Given the description of an element on the screen output the (x, y) to click on. 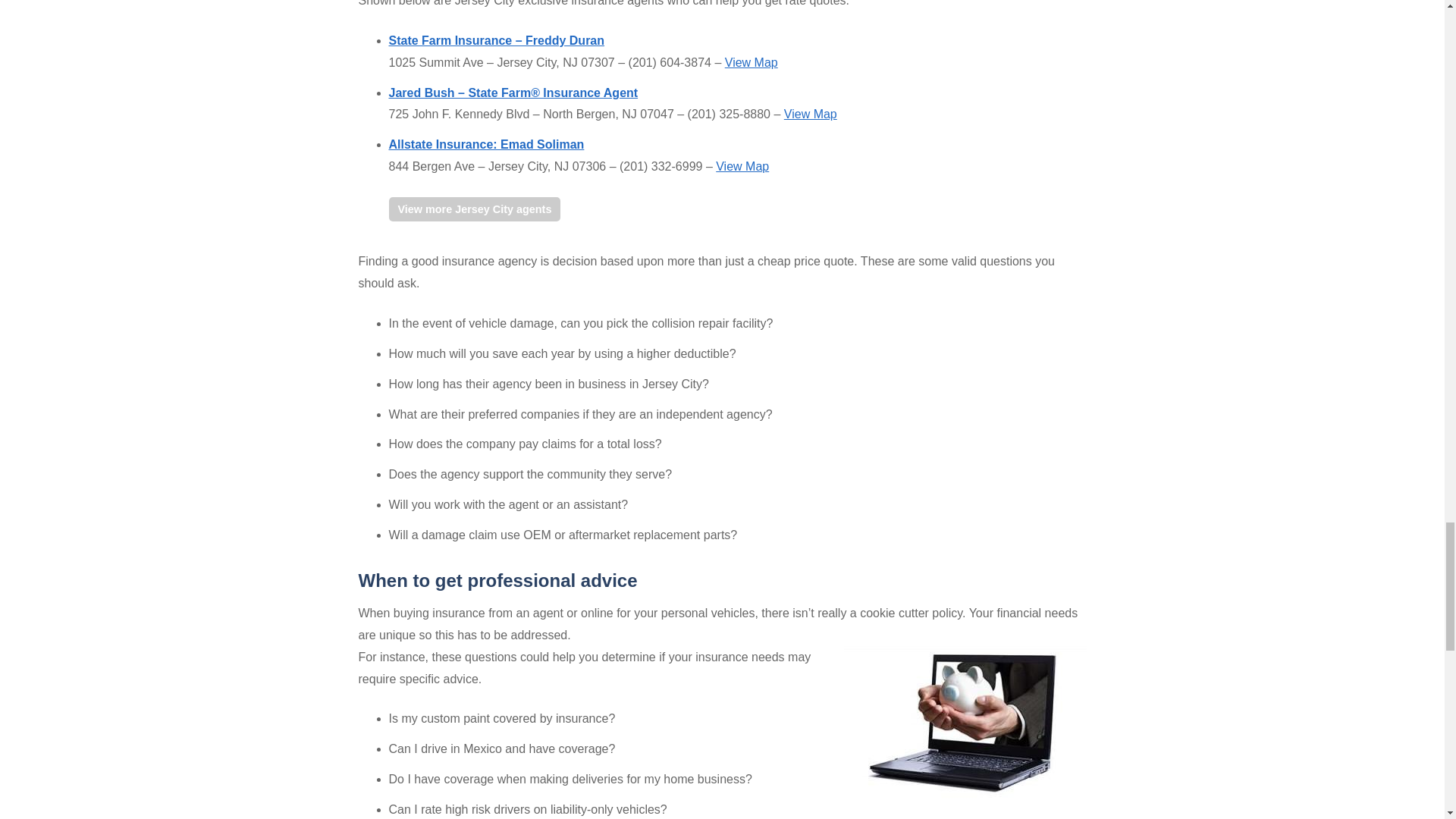
Allstate Insurance: Emad Soliman (485, 144)
View Map (742, 165)
View Map (810, 113)
View more Jersey City agents (474, 209)
View Map (751, 62)
